Given the description of an element on the screen output the (x, y) to click on. 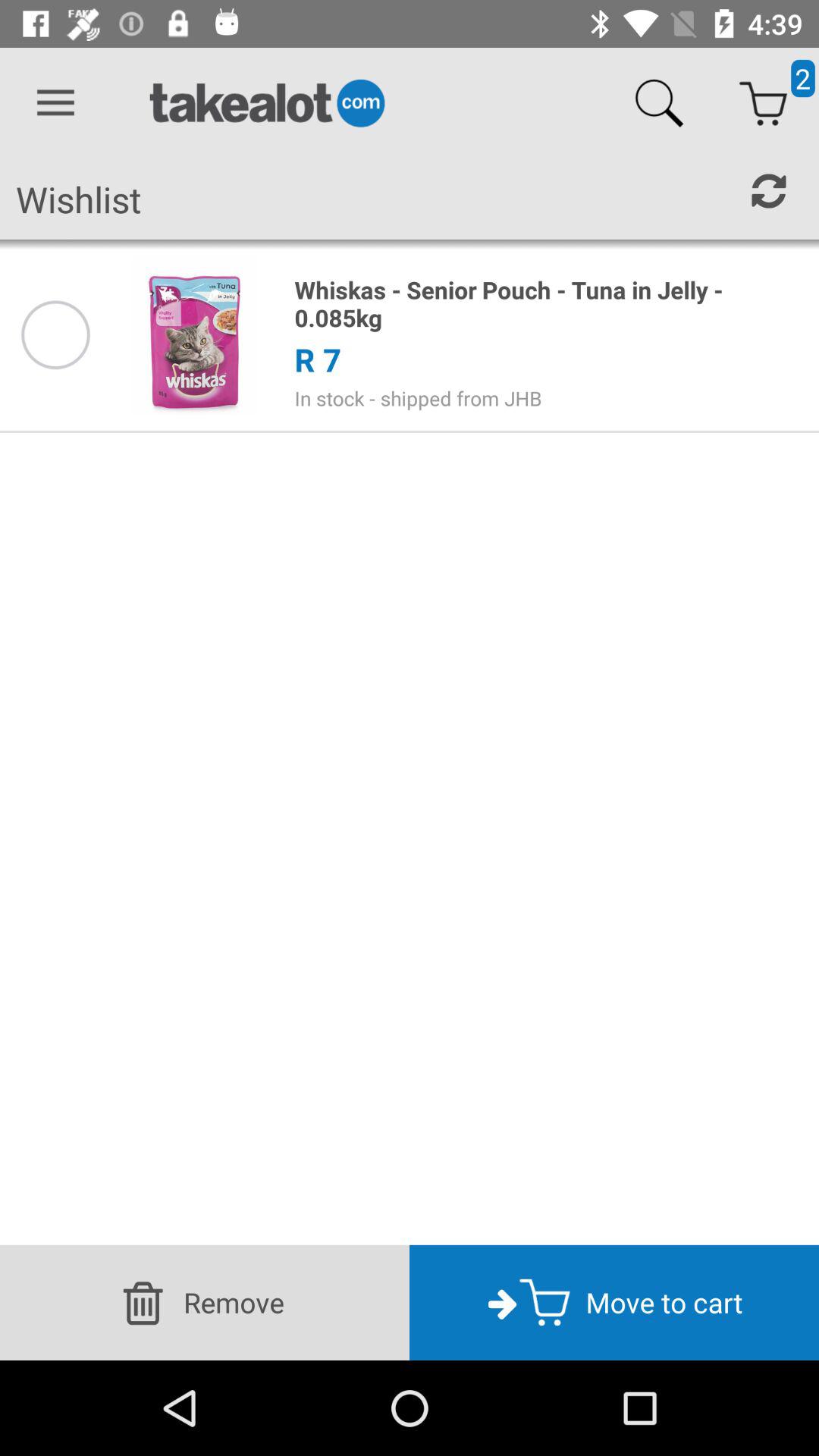
scroll to the in stock shipped item (548, 398)
